Given the description of an element on the screen output the (x, y) to click on. 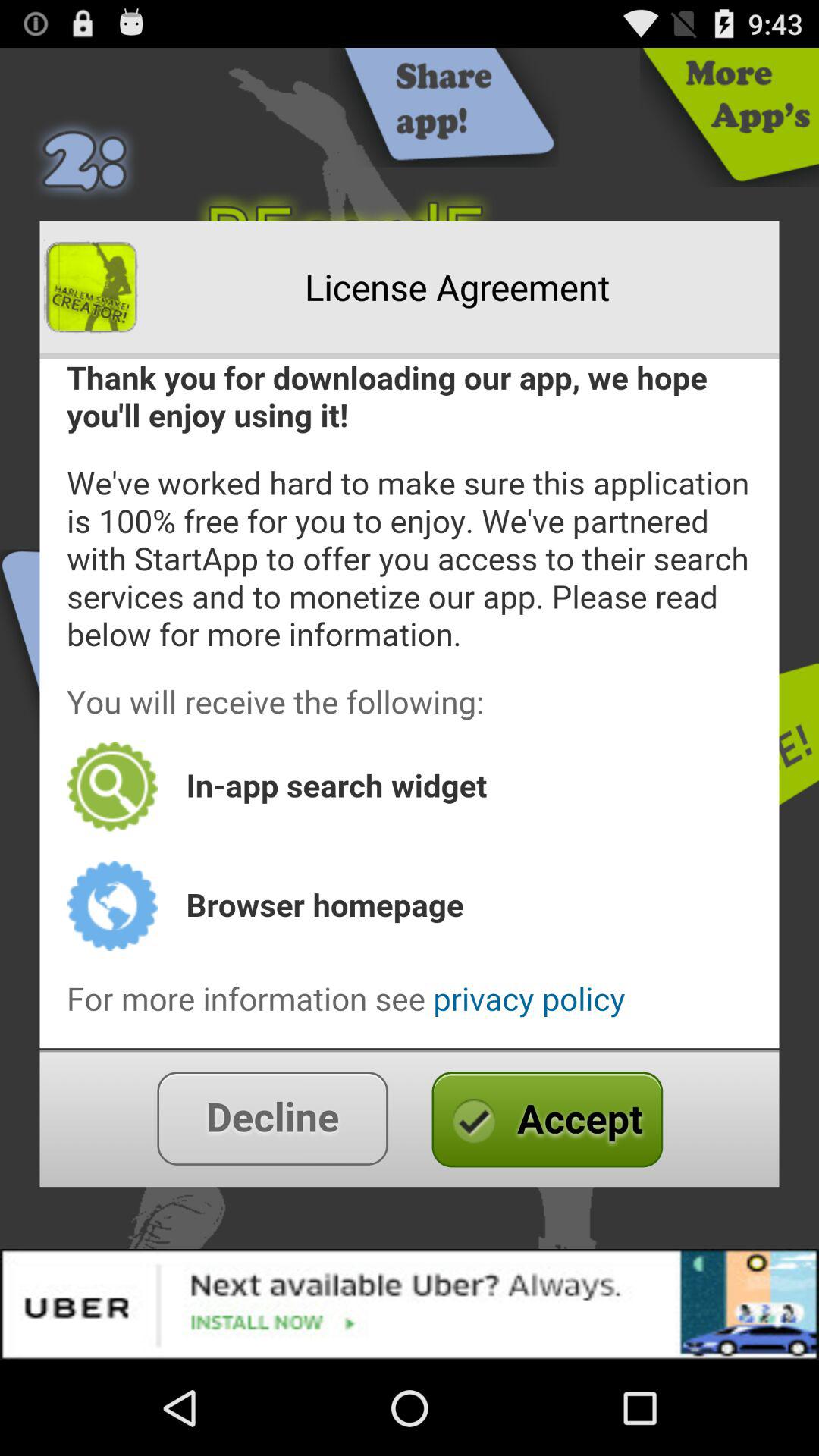
select accept or decline (409, 1117)
